Given the description of an element on the screen output the (x, y) to click on. 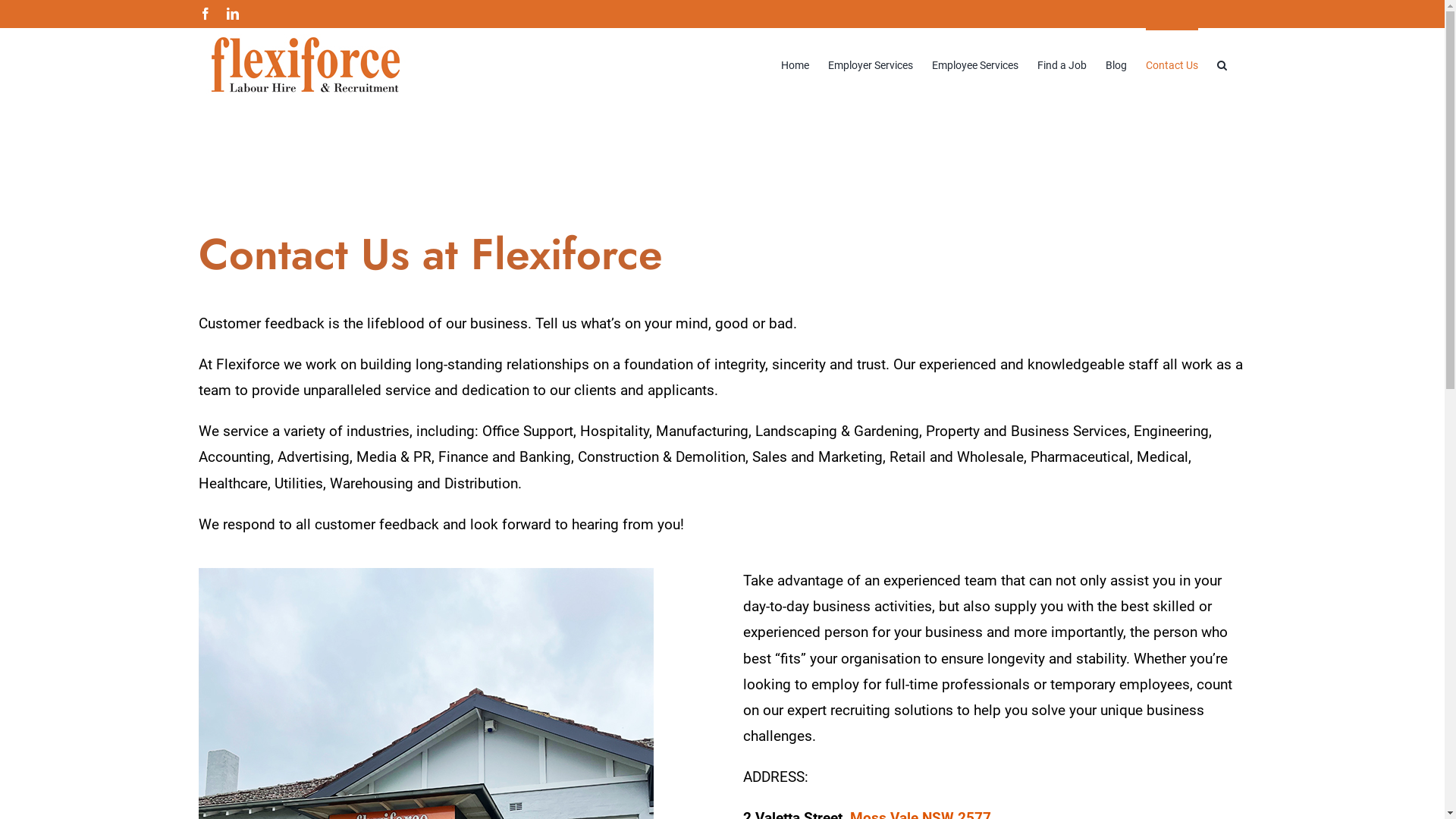
Home Element type: text (795, 63)
Search Element type: hover (1221, 63)
Blog Element type: text (1115, 63)
Contact Us Element type: text (1171, 63)
Facebook Element type: text (204, 13)
Employee Services Element type: text (974, 63)
Find a Job Element type: text (1061, 63)
LinkedIn Element type: text (231, 13)
Employer Services Element type: text (870, 63)
